Given the description of an element on the screen output the (x, y) to click on. 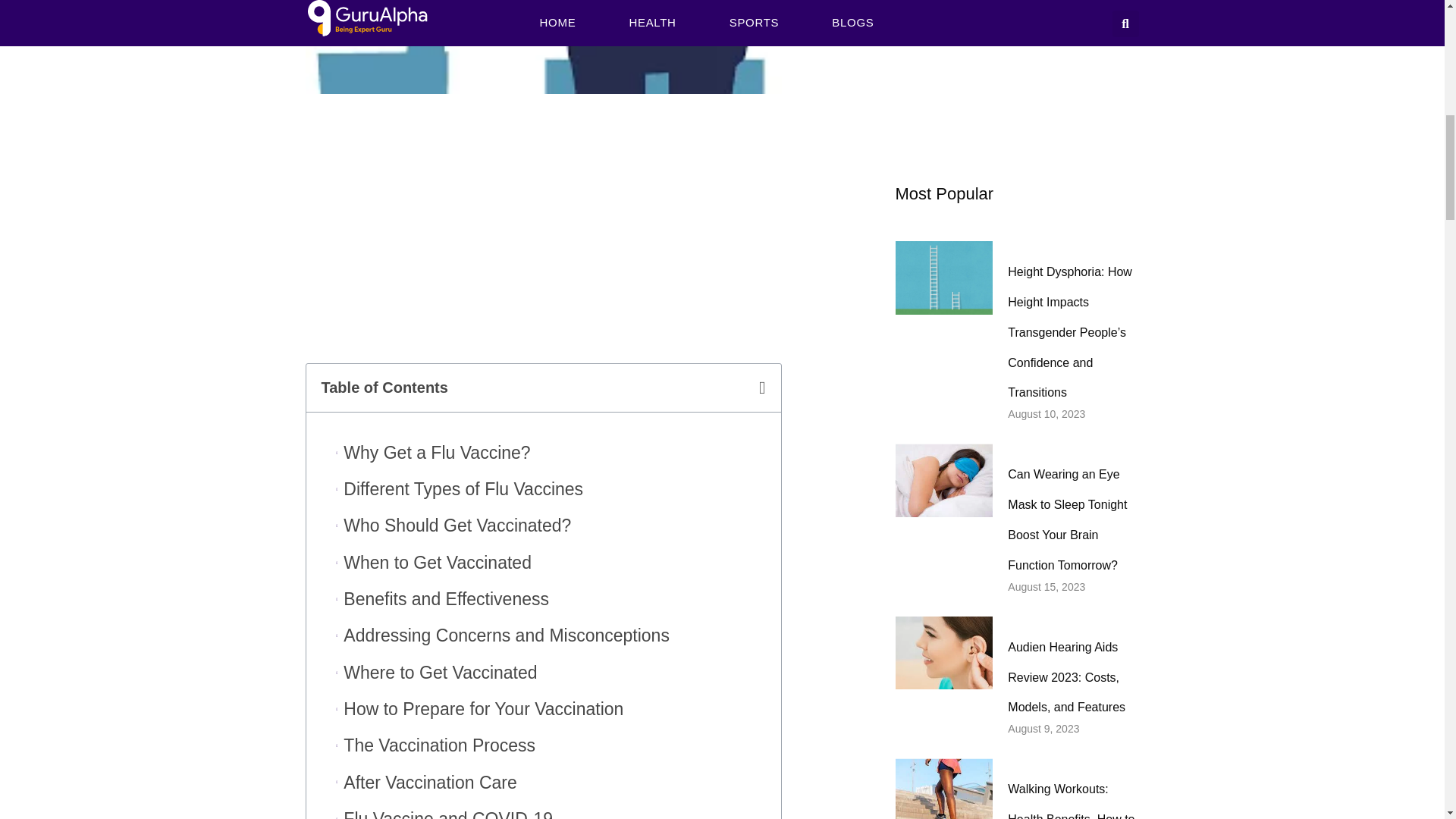
Flu Vaccine and COVID-19 (448, 812)
How to Prepare for Your Vaccination (483, 709)
Who Should Get Vaccinated? (456, 525)
Addressing Concerns and Misconceptions (506, 635)
Where to Get Vaccinated (440, 673)
After Vaccination Care (429, 782)
The Vaccination Process (439, 746)
Different Types of Flu Vaccines (463, 489)
Benefits and Effectiveness (445, 599)
Why Get a Flu Vaccine? (436, 452)
